Given the description of an element on the screen output the (x, y) to click on. 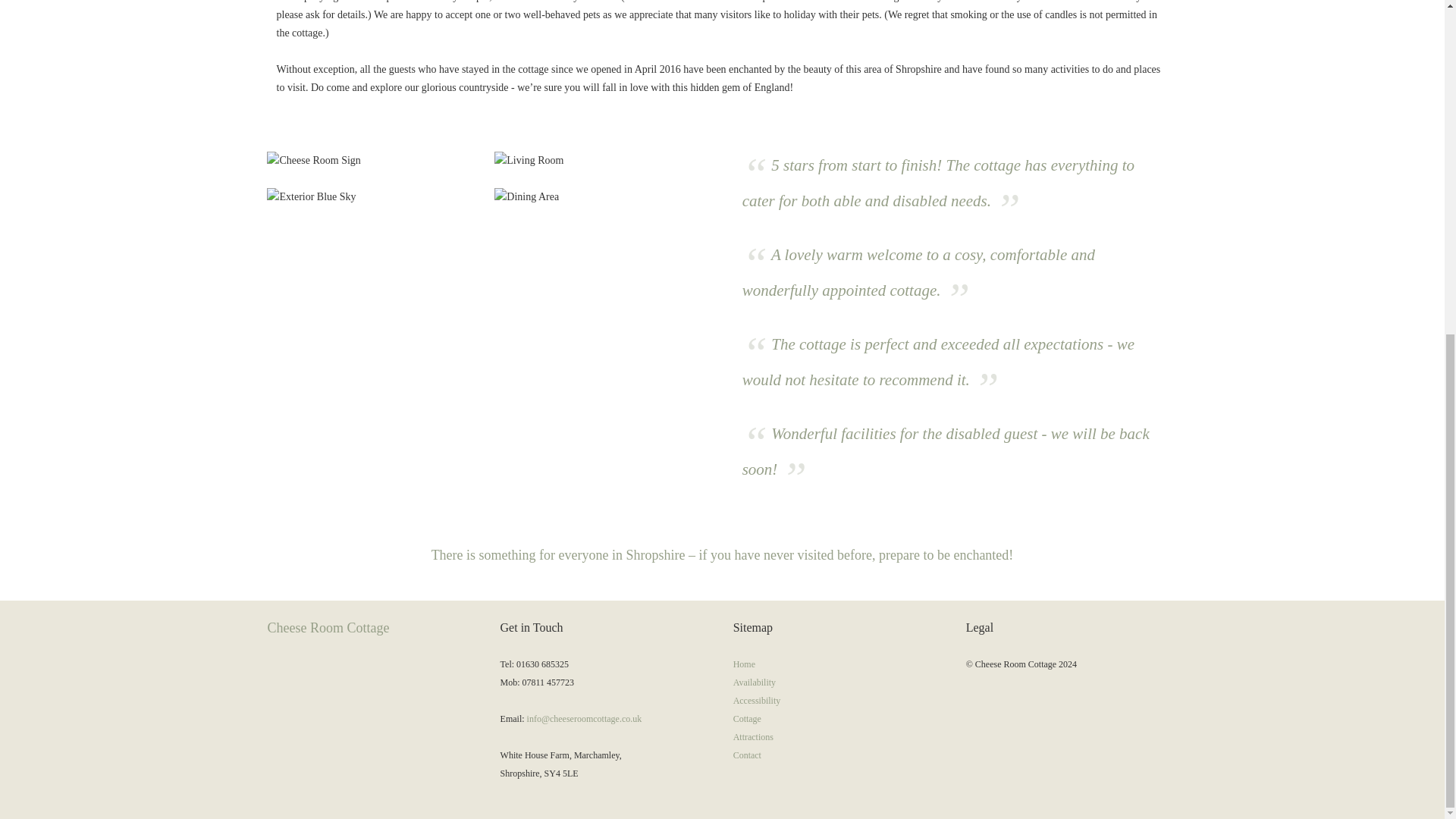
Contact (747, 755)
Attractions (753, 737)
Accessibility (756, 700)
Availability (754, 682)
Home (744, 664)
Cottage (747, 718)
